Given the description of an element on the screen output the (x, y) to click on. 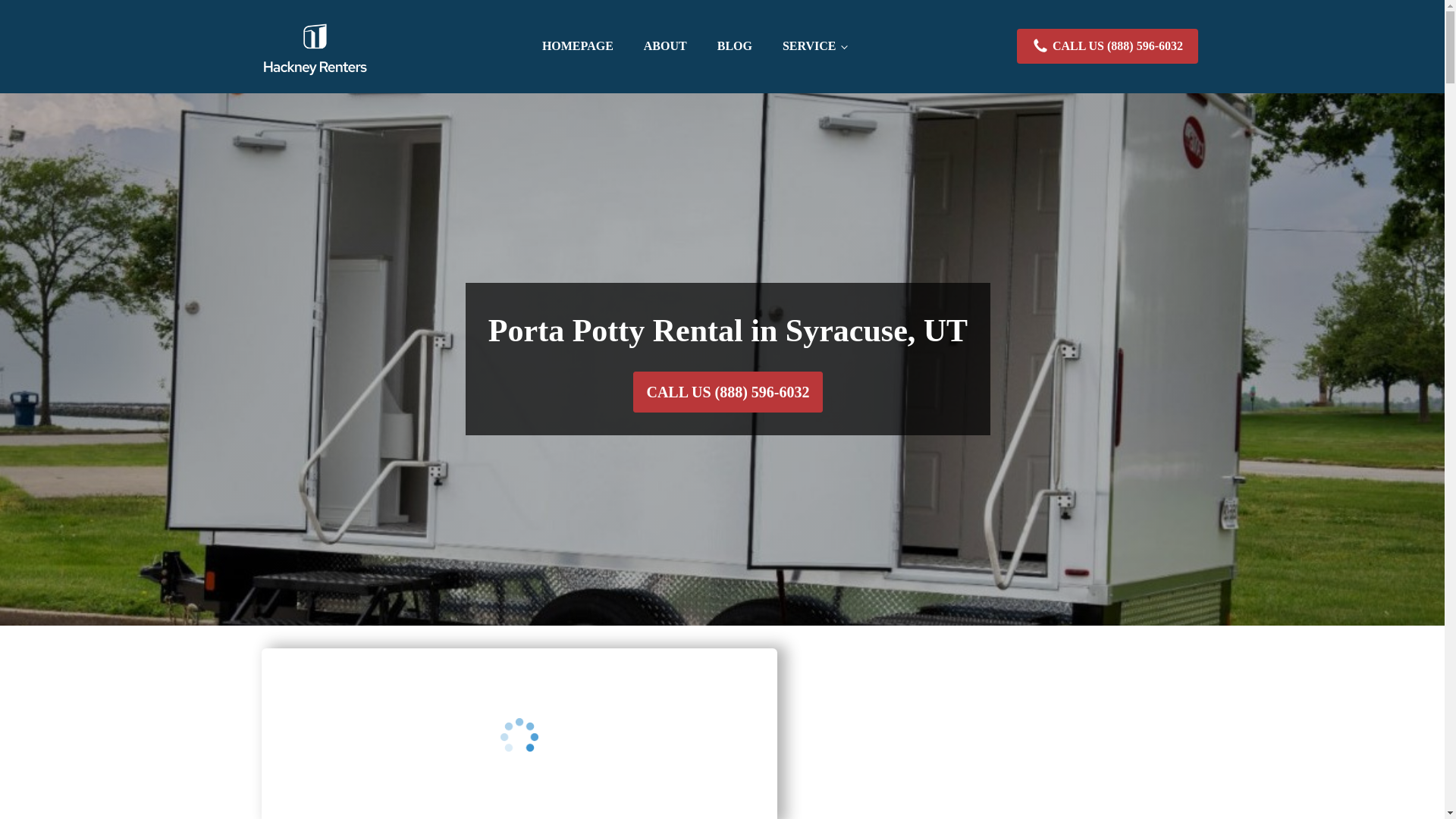
HOMEPAGE (577, 46)
SERVICE (814, 46)
ABOUT (664, 46)
BLOG (734, 46)
